Given the description of an element on the screen output the (x, y) to click on. 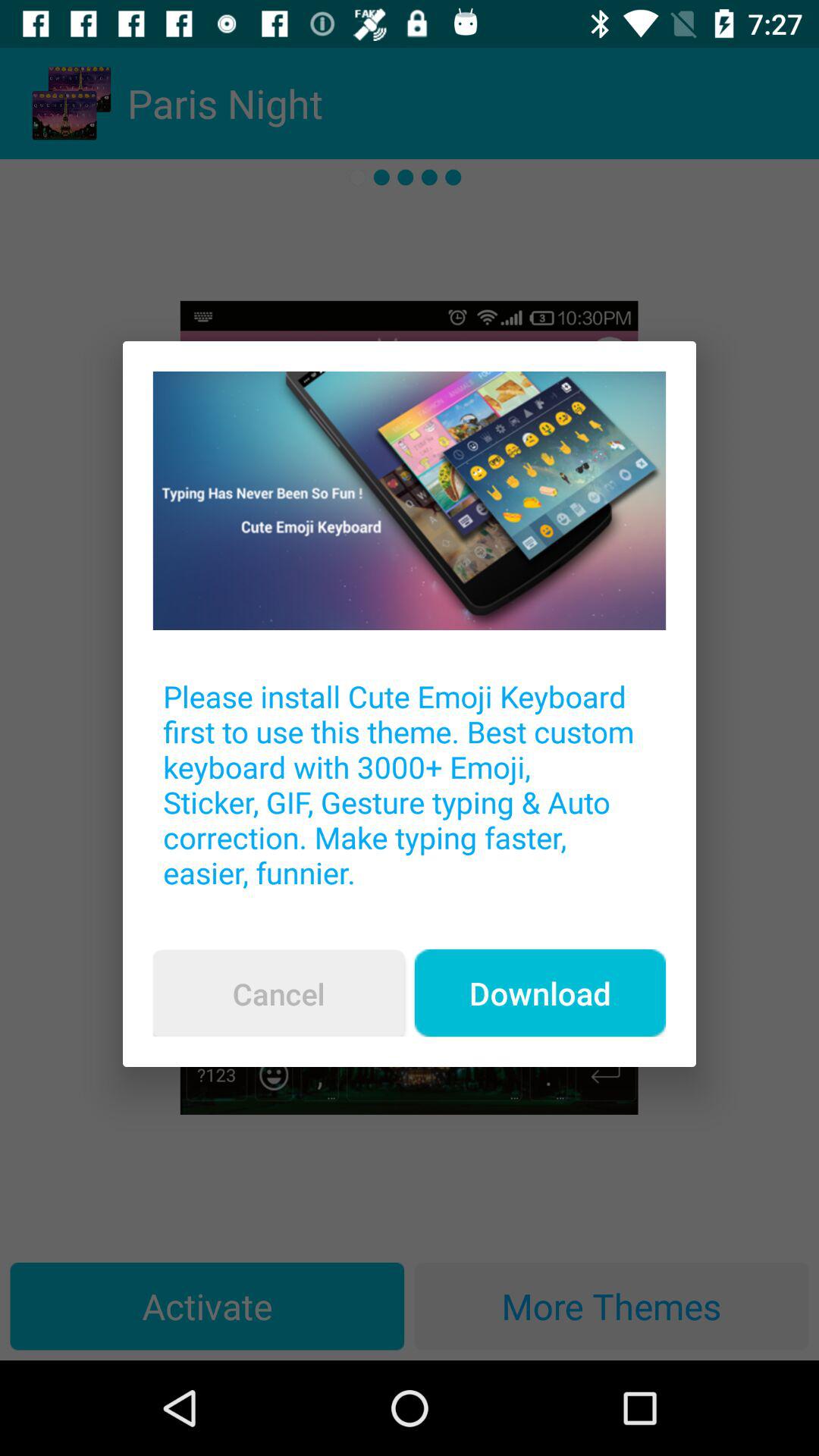
scroll to download item (540, 992)
